Given the description of an element on the screen output the (x, y) to click on. 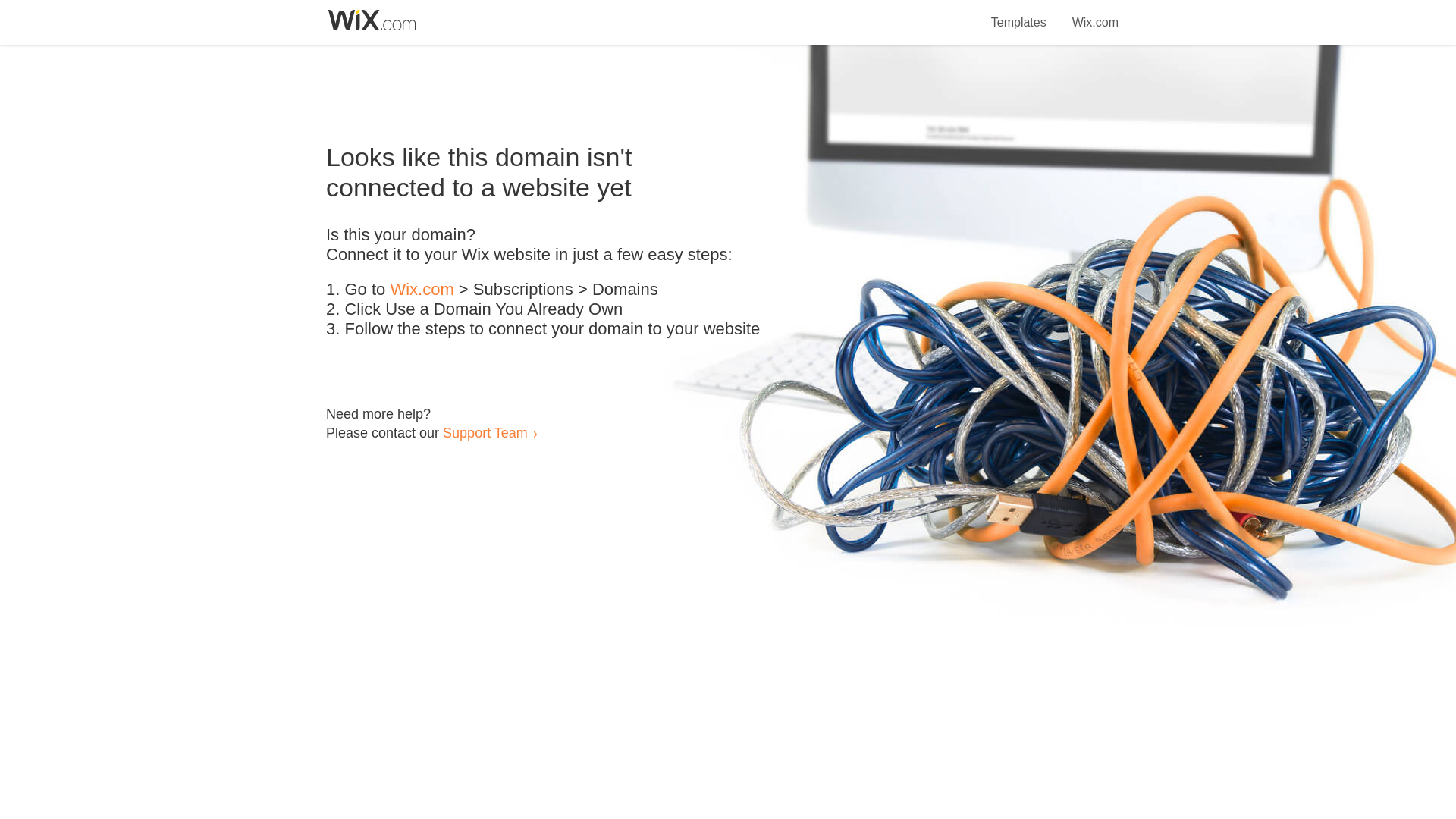
Wix.com (1095, 14)
Wix.com (421, 289)
Templates (1018, 14)
Support Team (484, 432)
